Given the description of an element on the screen output the (x, y) to click on. 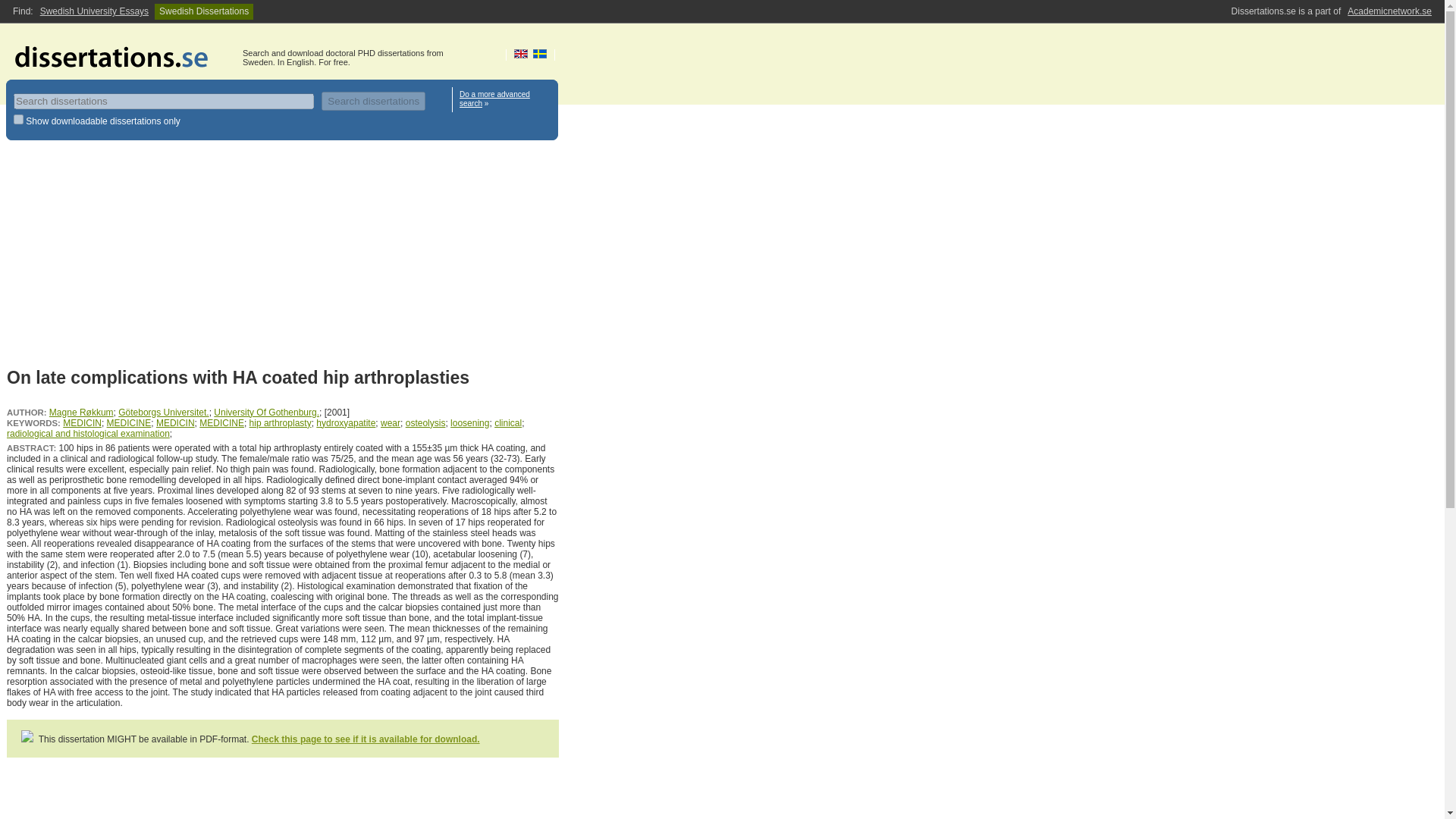
language: Swedish (539, 53)
y (18, 119)
MEDICINE (221, 422)
loosening (469, 422)
radiological and histological examination (88, 433)
Swedish Dissertations (203, 11)
MEDICIN (175, 422)
wear (390, 422)
osteolysis (425, 422)
MEDICIN (81, 422)
Search dissertations (373, 100)
Academicnetwork.se (1388, 11)
Search dissertations (373, 100)
Language: English (520, 53)
hip arthroplasty (279, 422)
